Given the description of an element on the screen output the (x, y) to click on. 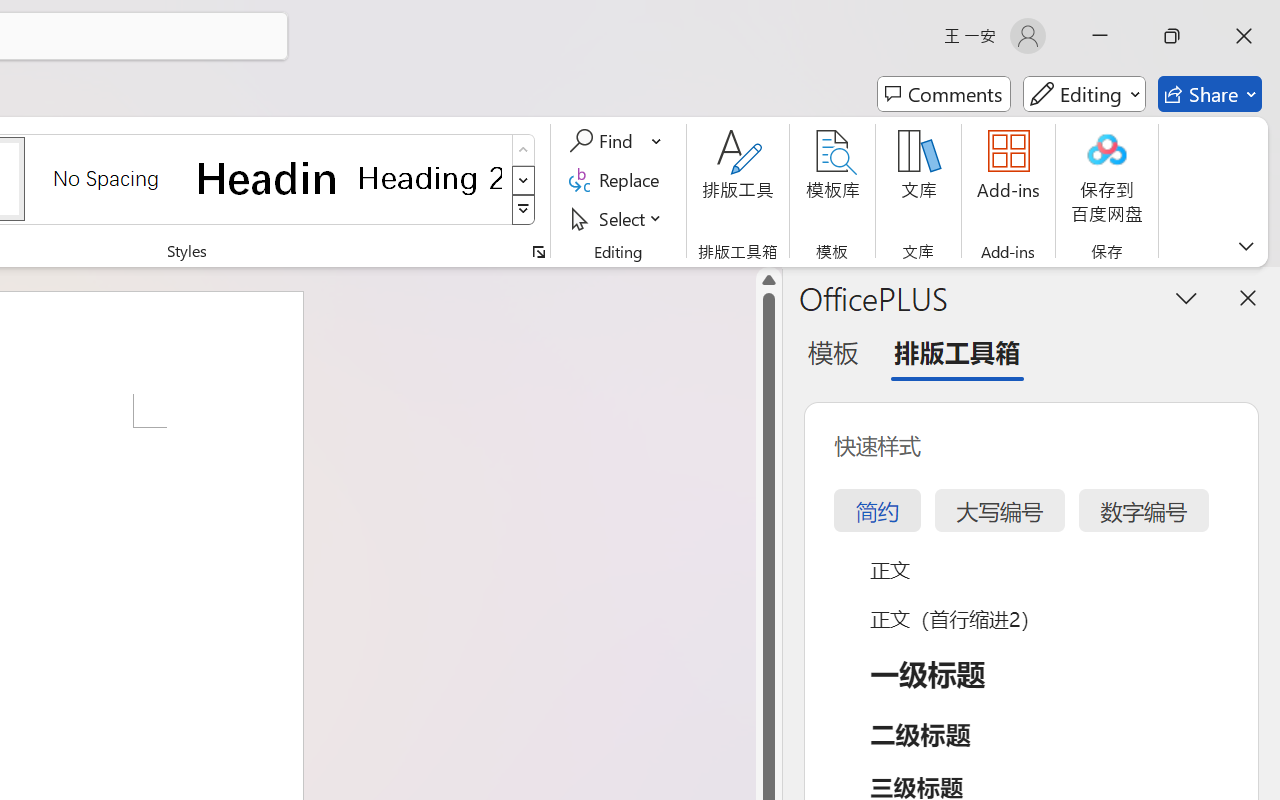
Task Pane Options (1186, 297)
Line up (769, 279)
